Given the description of an element on the screen output the (x, y) to click on. 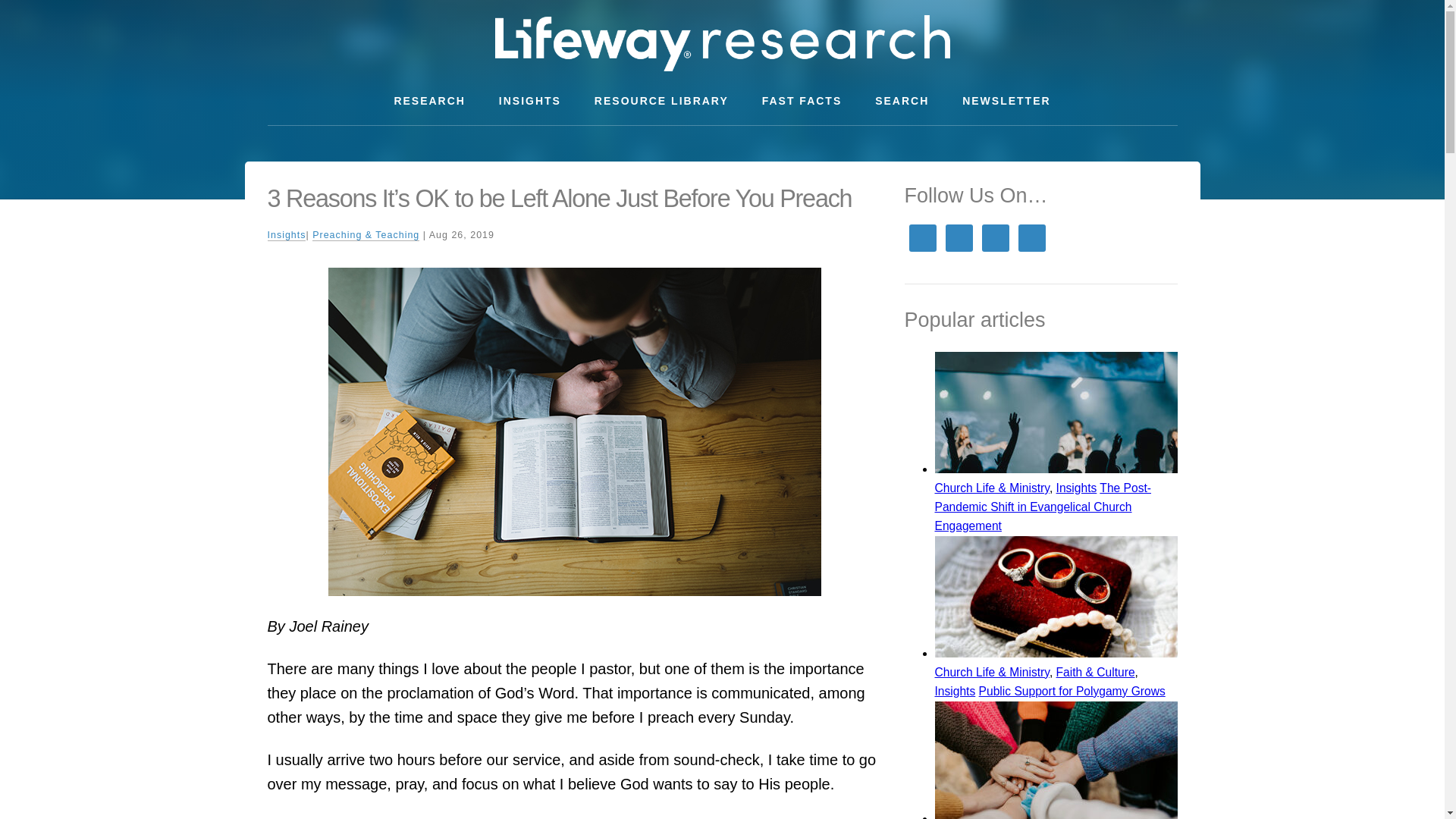
SEARCH (901, 100)
RESOURCE LIBRARY (661, 100)
RESEARCH (429, 100)
NEWSLETTER (1006, 100)
FAST FACTS (801, 100)
INSIGHTS (529, 100)
Insights (285, 235)
